Given the description of an element on the screen output the (x, y) to click on. 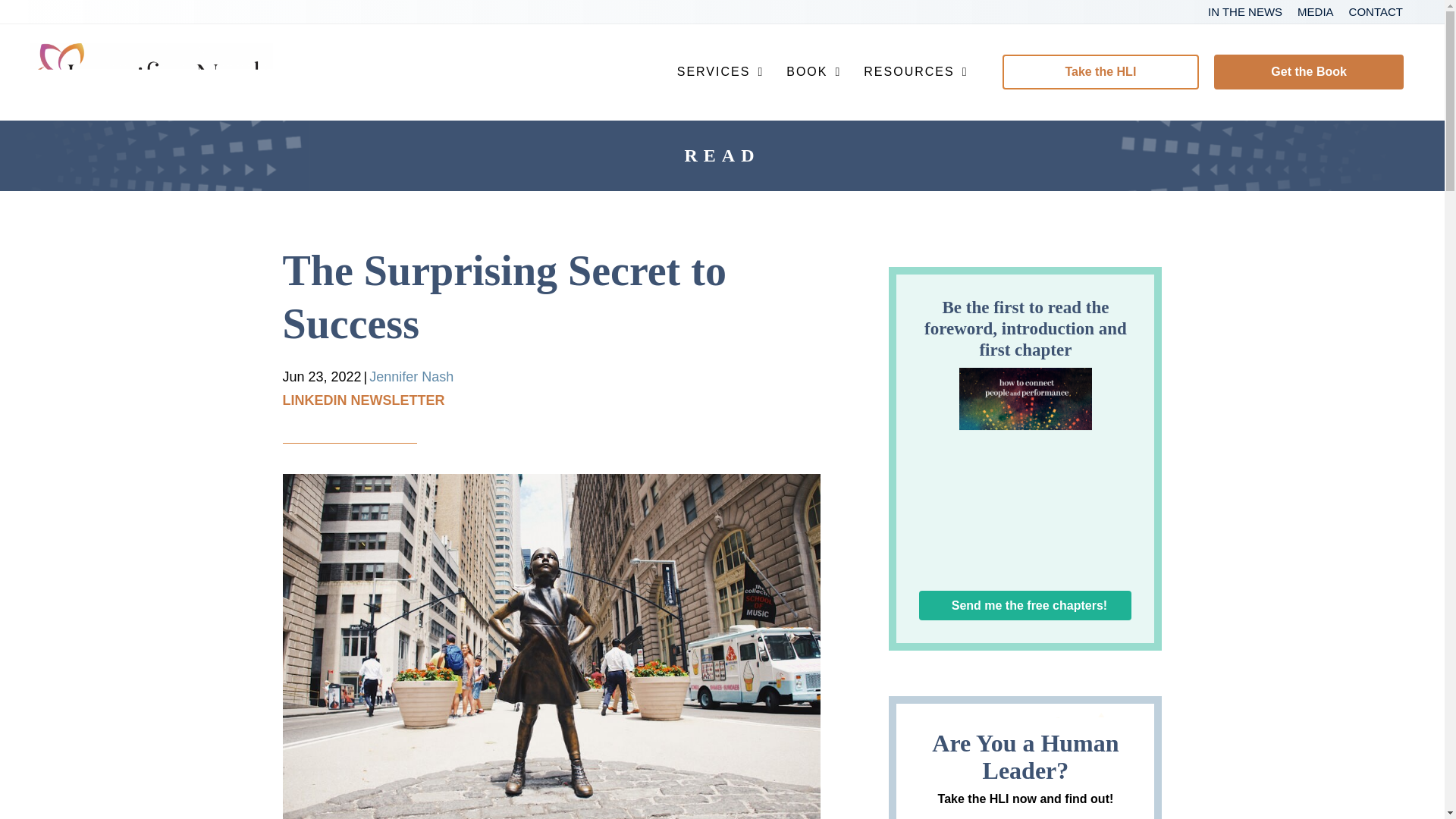
RESOURCES (915, 71)
IN THE NEWS (1244, 14)
SERVICES (720, 71)
Logo (151, 71)
BOOK (813, 71)
MEDIA (1315, 14)
CONTACT (1375, 14)
